Given the description of an element on the screen output the (x, y) to click on. 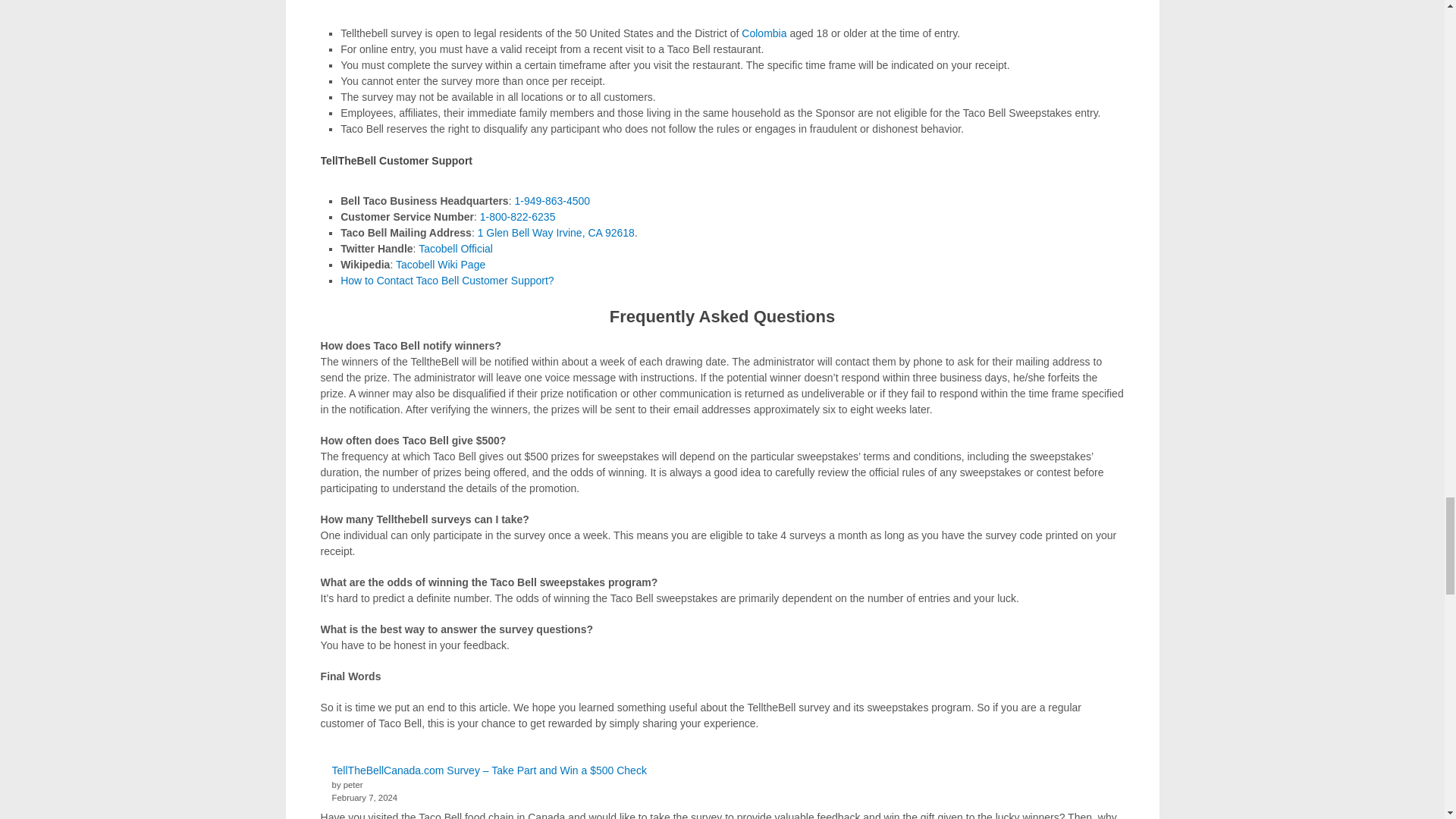
Tacobell Official (456, 248)
1-800-822-6235 (518, 216)
Tacobell Wiki Page (440, 264)
How to Contact Taco Bell Customer Support? (446, 280)
1 Glen Bell Way Irvine, CA 92618 (555, 232)
1-949-863-4500  (552, 200)
Colombia (763, 33)
